Given the description of an element on the screen output the (x, y) to click on. 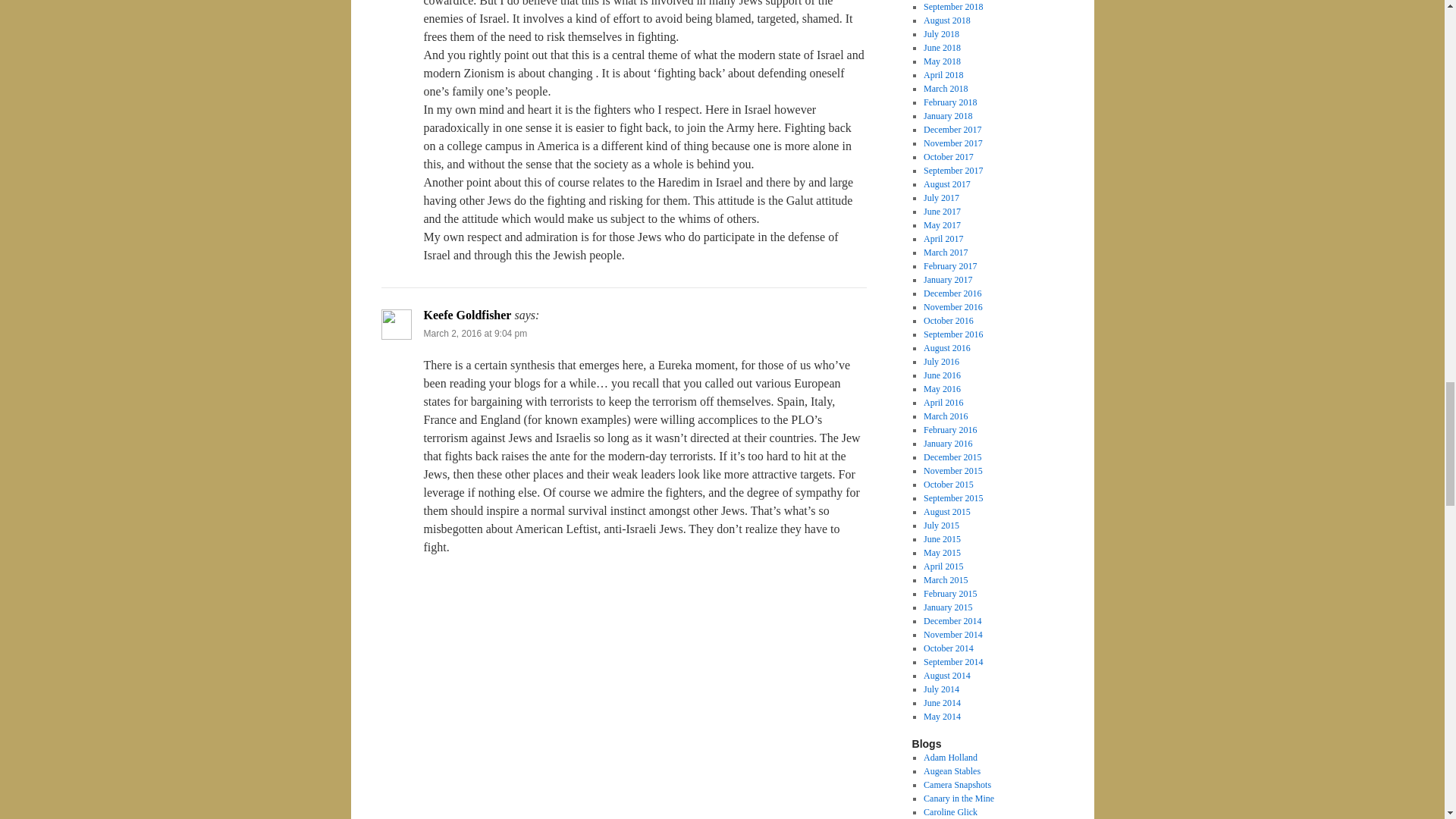
March 2, 2016 at 9:04 pm (475, 333)
